Given the description of an element on the screen output the (x, y) to click on. 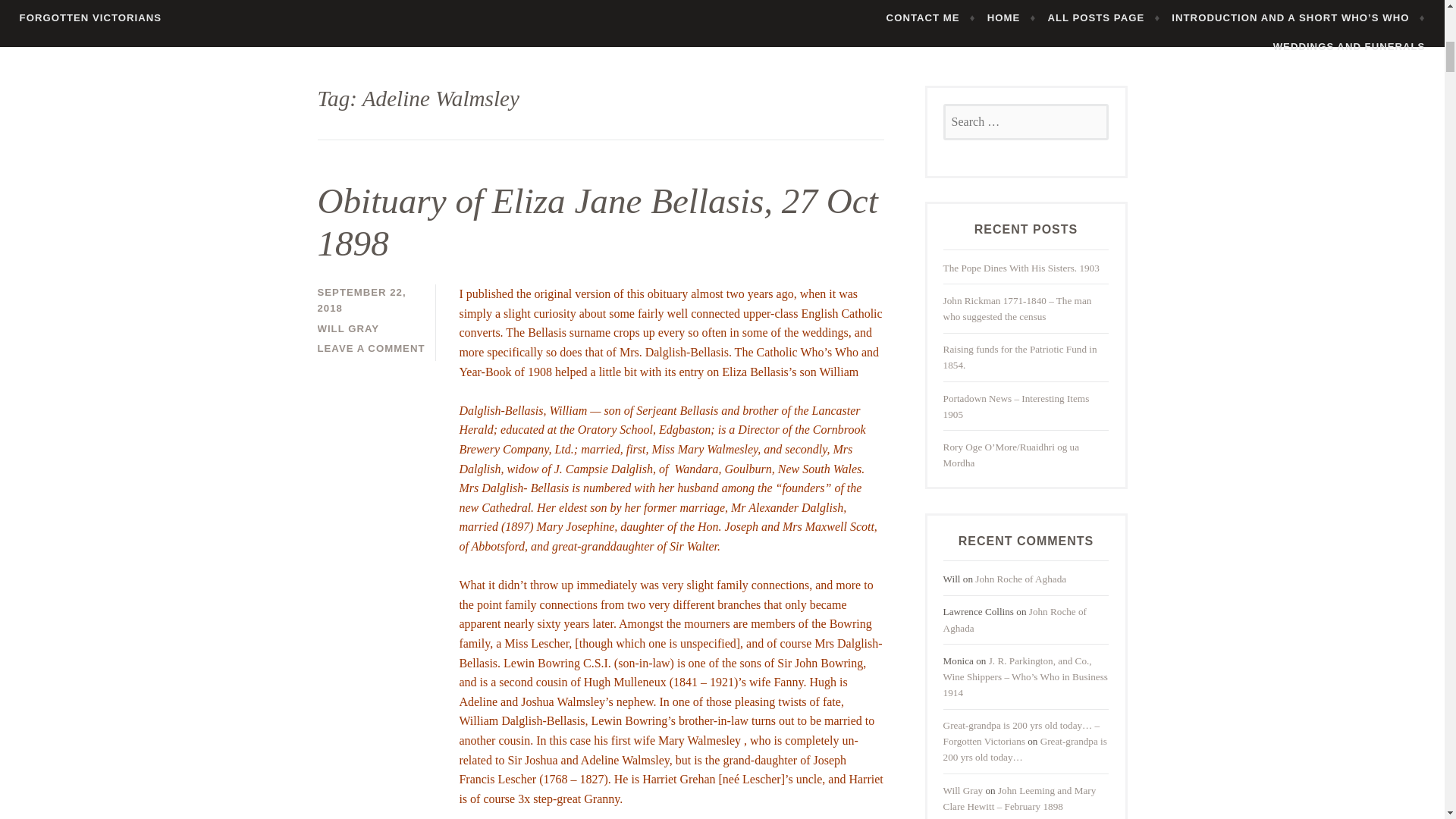
LEAVE A COMMENT (371, 348)
WILL GRAY (347, 328)
Obituary of Eliza Jane Bellasis, 27 Oct 1898 (597, 221)
SEPTEMBER 22, 2018 (361, 299)
